Given the description of an element on the screen output the (x, y) to click on. 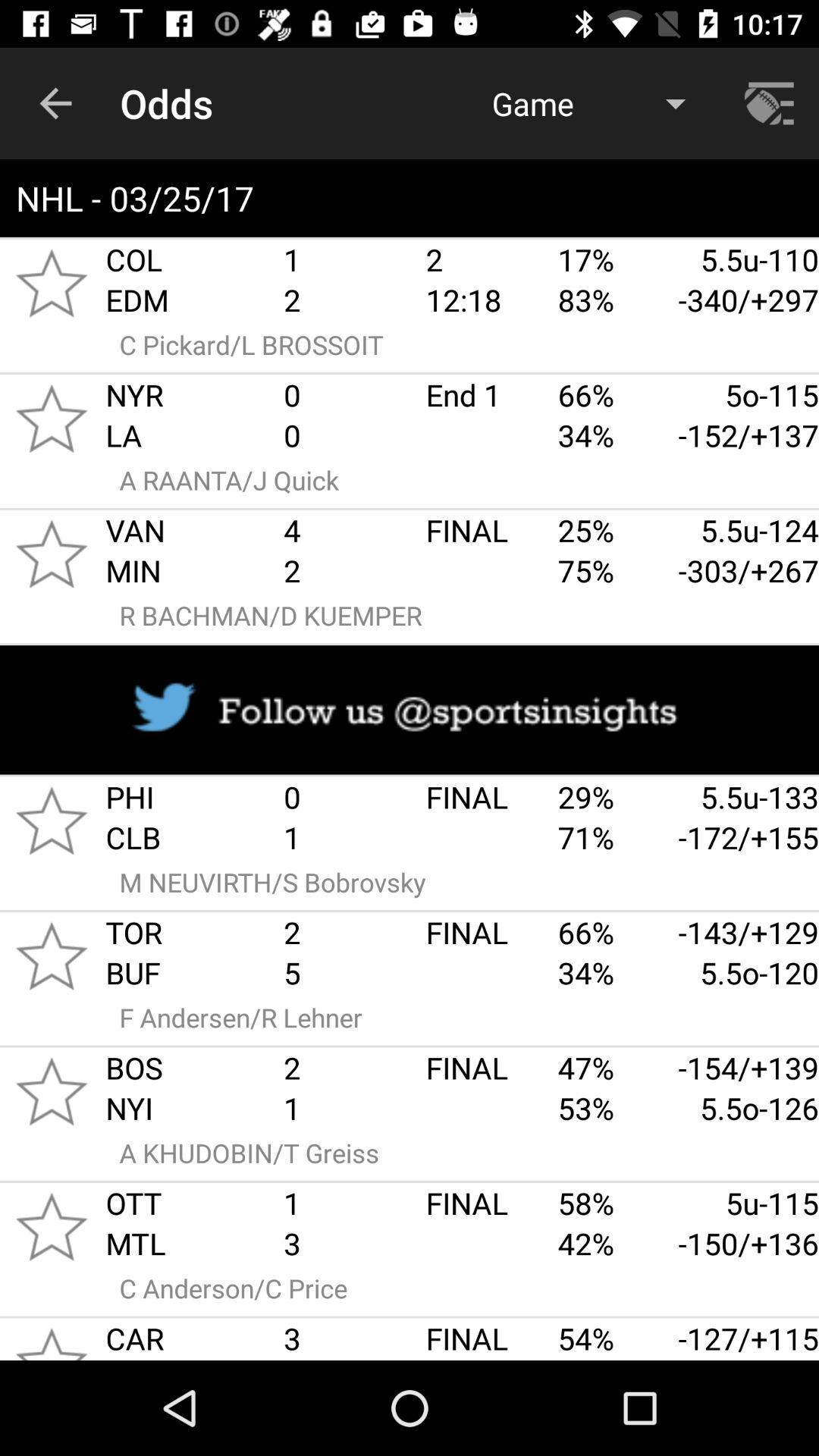
advertisement (409, 709)
